Given the description of an element on the screen output the (x, y) to click on. 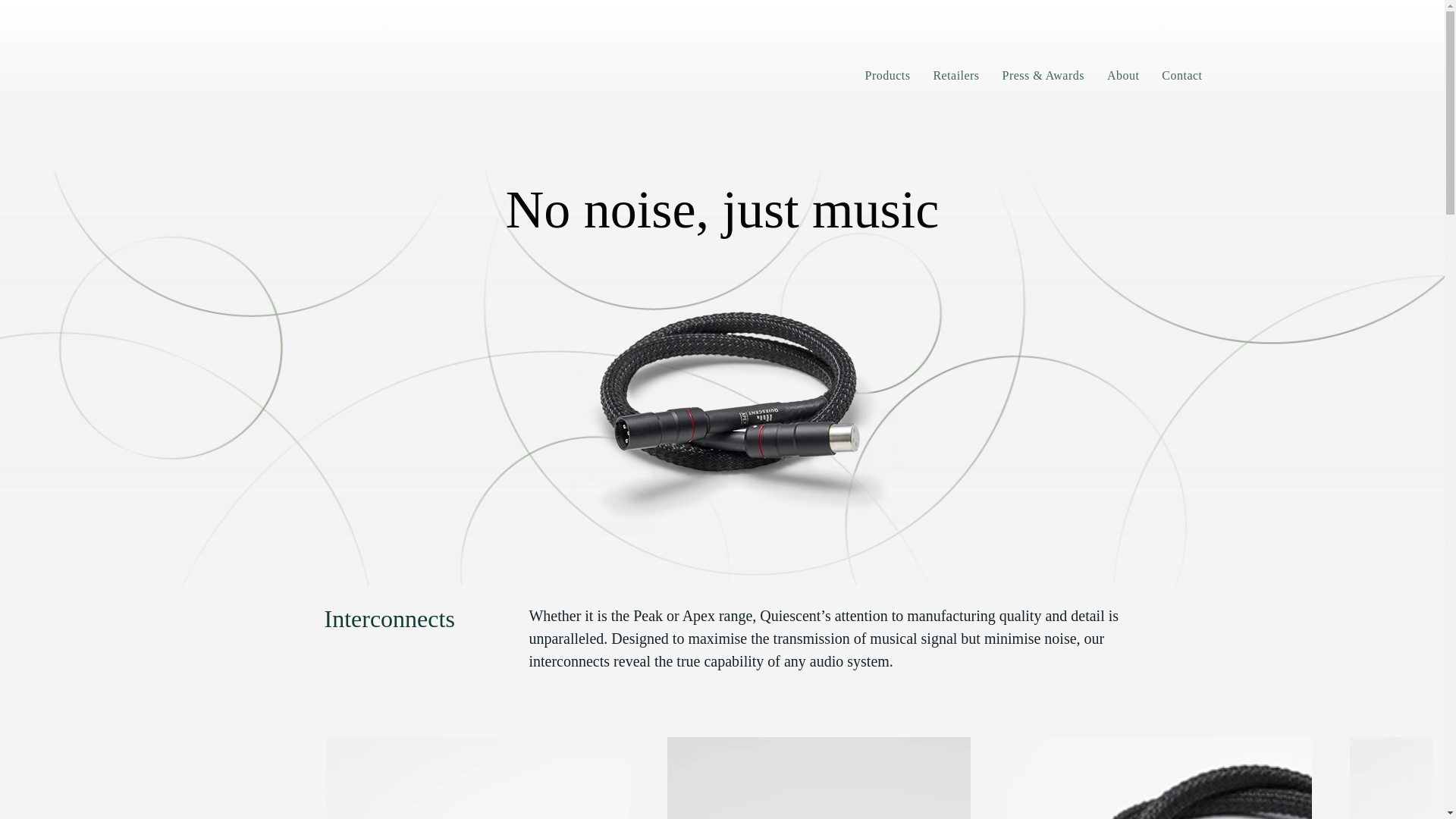
Contact (1181, 74)
Retailers (955, 74)
Products (887, 74)
About (1122, 74)
